Given the description of an element on the screen output the (x, y) to click on. 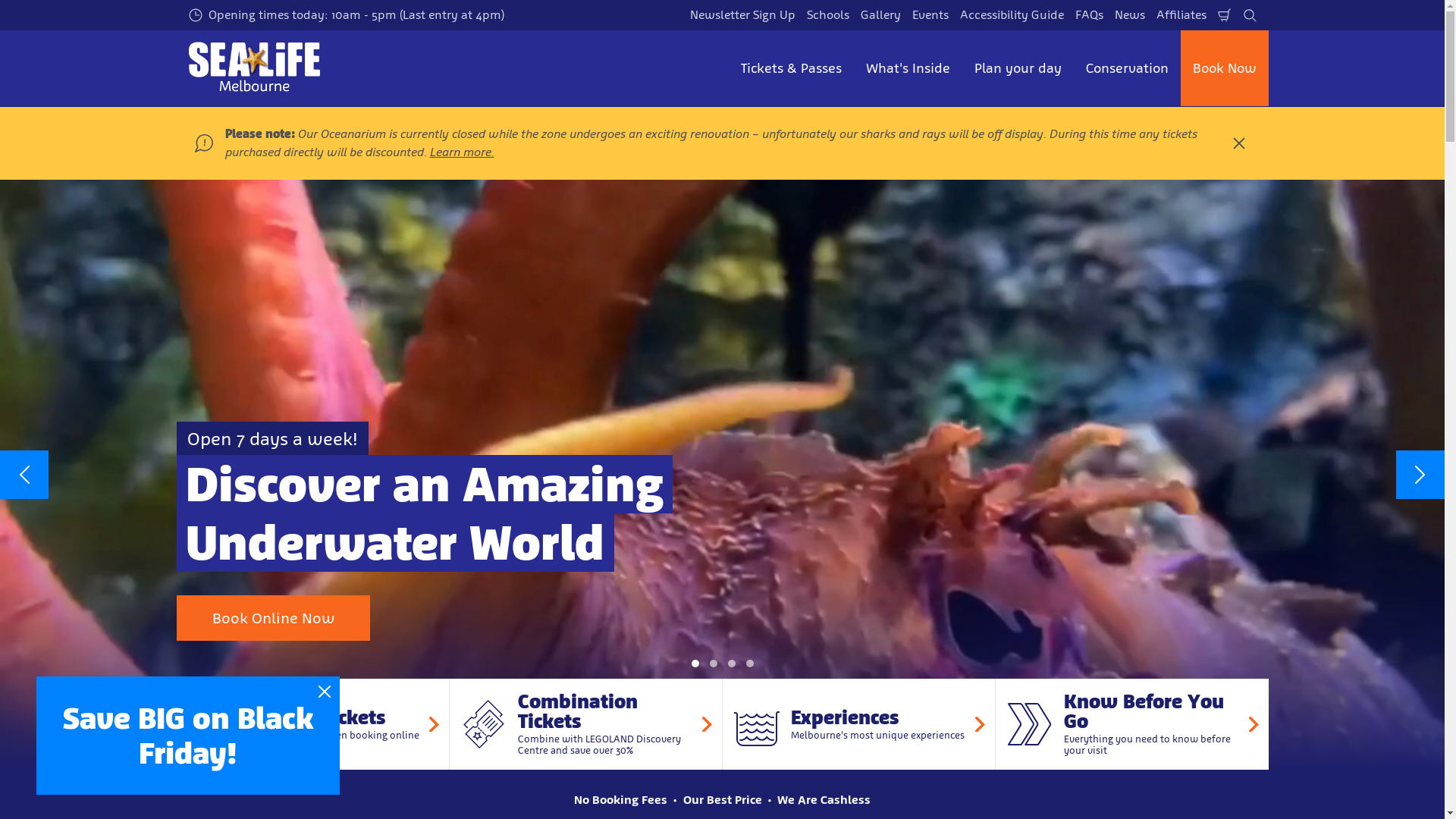
FAQs Element type: text (1088, 15)
Tickets & Passes Element type: text (790, 68)
Accessibility Guide Element type: text (1010, 15)
Shopping Cart Element type: text (1223, 14)
Close Element type: text (1237, 142)
Affiliates Element type: text (1181, 15)
What's Inside Element type: text (907, 68)
Experiences
Melbourne's most unique experiences Element type: text (858, 723)
Book Now Element type: text (1223, 68)
Conservation Element type: text (1126, 68)
News Element type: text (1129, 15)
Go to slide 4 Element type: text (749, 663)
Newsletter Sign Up Element type: text (741, 15)
Search Element type: text (1249, 14)
Opening times today: 10am - 5pm (Last entry at 4pm) Element type: text (346, 14)
Schools Element type: text (827, 15)
Events Element type: text (930, 15)
Go to slide 3 Element type: text (730, 663)
Save BIG on Black Friday! Element type: text (187, 735)
Plan your day Element type: text (1017, 68)
Close Element type: text (324, 691)
Go to slide 1 Element type: text (694, 663)
Learn more. Element type: text (461, 151)
Gallery Element type: text (880, 15)
Book Online Now Element type: text (272, 617)
Popular Tickets
Guarantee entry when booking online Element type: text (311, 723)
Go to slide 2 Element type: text (712, 663)
